Given the description of an element on the screen output the (x, y) to click on. 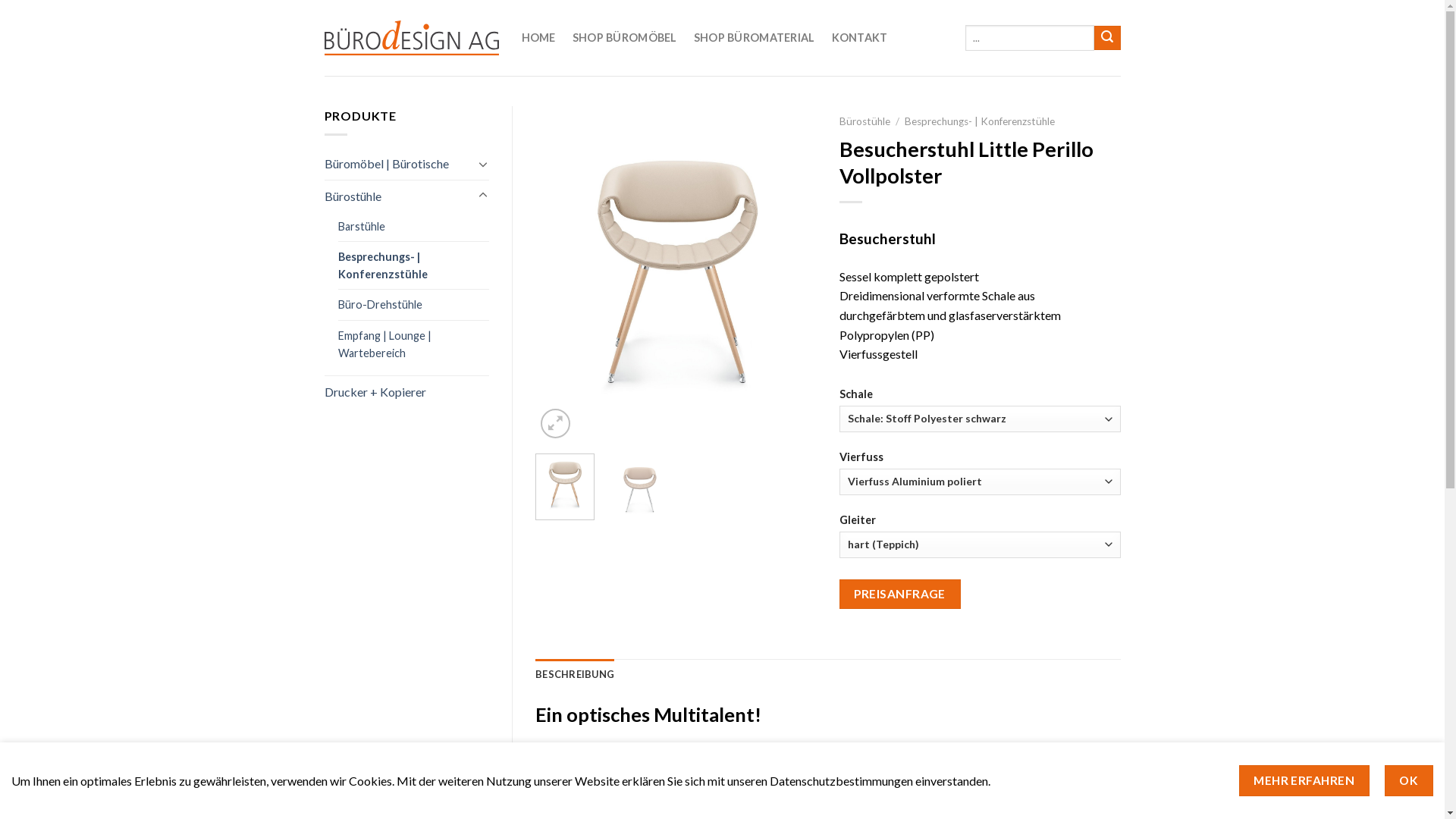
6540 Element type: text (78, 15)
PREISANFRAGE Element type: text (899, 593)
KONTAKT Element type: text (859, 37)
Drucker + Kopierer Element type: text (406, 391)
OK Element type: text (1408, 780)
BESCHREIBUNG Element type: text (574, 673)
Zoom Element type: hover (555, 423)
HOME Element type: text (538, 37)
Skip to content Element type: text (0, 0)
Suche Element type: text (1107, 37)
Empfang | Lounge | Wartebereich Element type: text (413, 343)
MEHR ERFAHREN Element type: text (1304, 780)
